Given the description of an element on the screen output the (x, y) to click on. 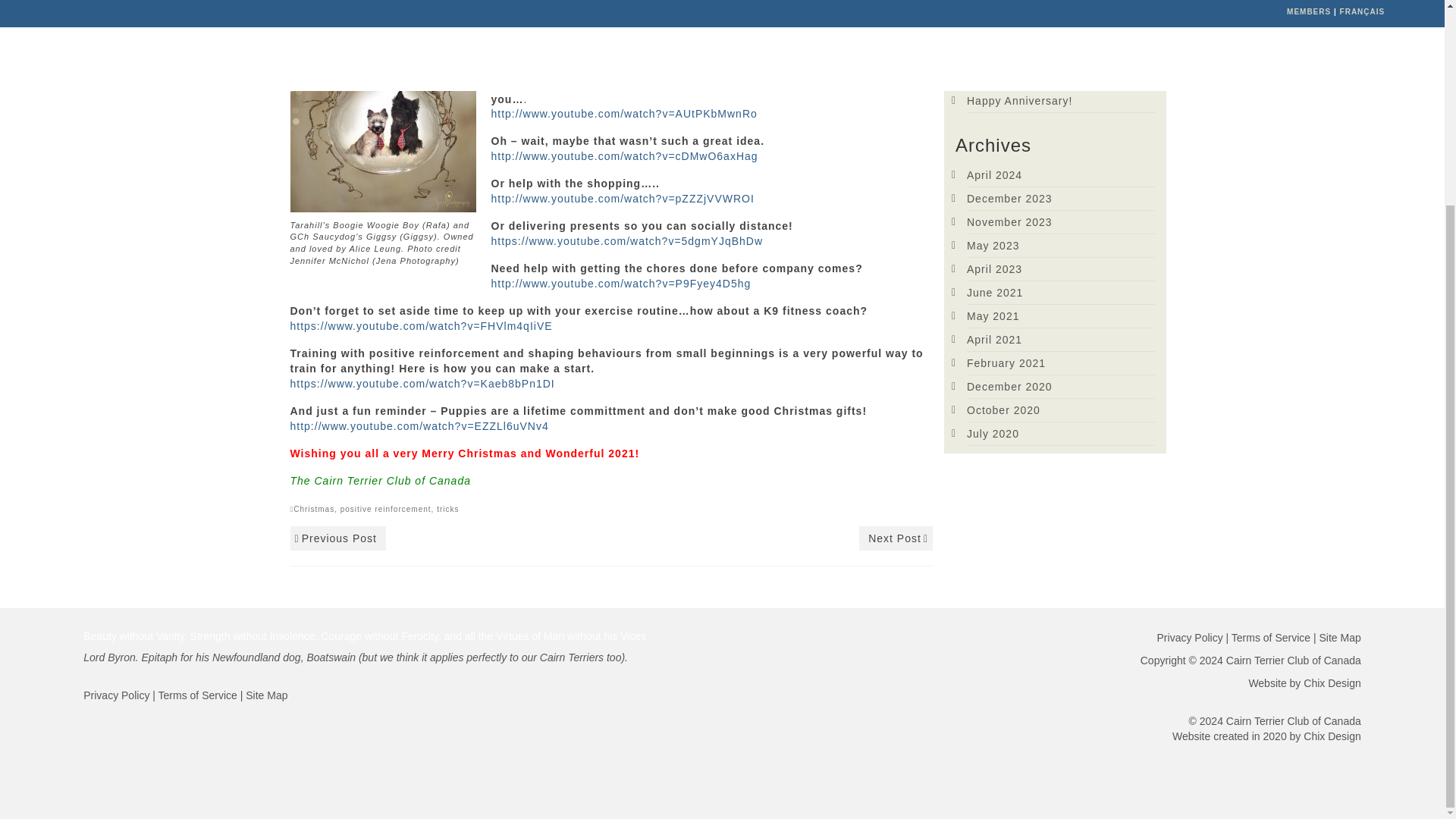
tricks (447, 509)
Terms of Service (197, 695)
Site Map (266, 695)
Terms of Service (1270, 637)
positive reinforcement (385, 509)
Site Map (1340, 637)
Privacy Policy (115, 695)
Christmas (314, 509)
Privacy Policy (1190, 637)
